Given the description of an element on the screen output the (x, y) to click on. 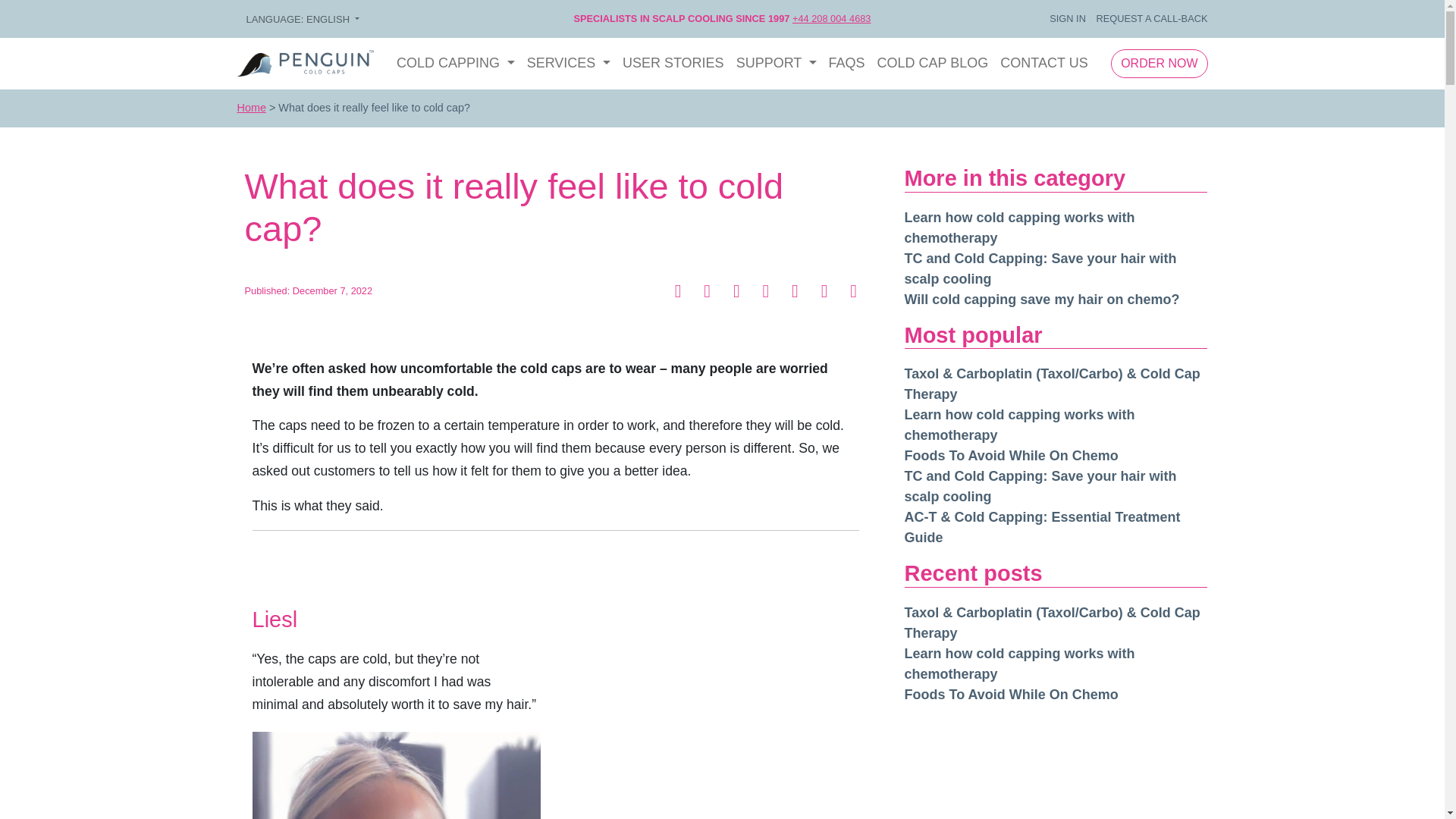
Share on Reddit (797, 292)
Learn how cold capping works with chemotherapy (1019, 227)
Share by Email (853, 292)
USER STORIES (672, 62)
Share on Facebook (679, 292)
LANGUAGE: ENGLISH (301, 19)
SERVICES (568, 62)
COLD CAP BLOG (932, 62)
Share on WhatsApp (737, 292)
COLD CAPPING (455, 62)
ORDER NOW (1158, 63)
REQUEST A CALL-BACK (1151, 18)
SUPPORT (776, 62)
FAQS (846, 62)
Home (249, 107)
